Given the description of an element on the screen output the (x, y) to click on. 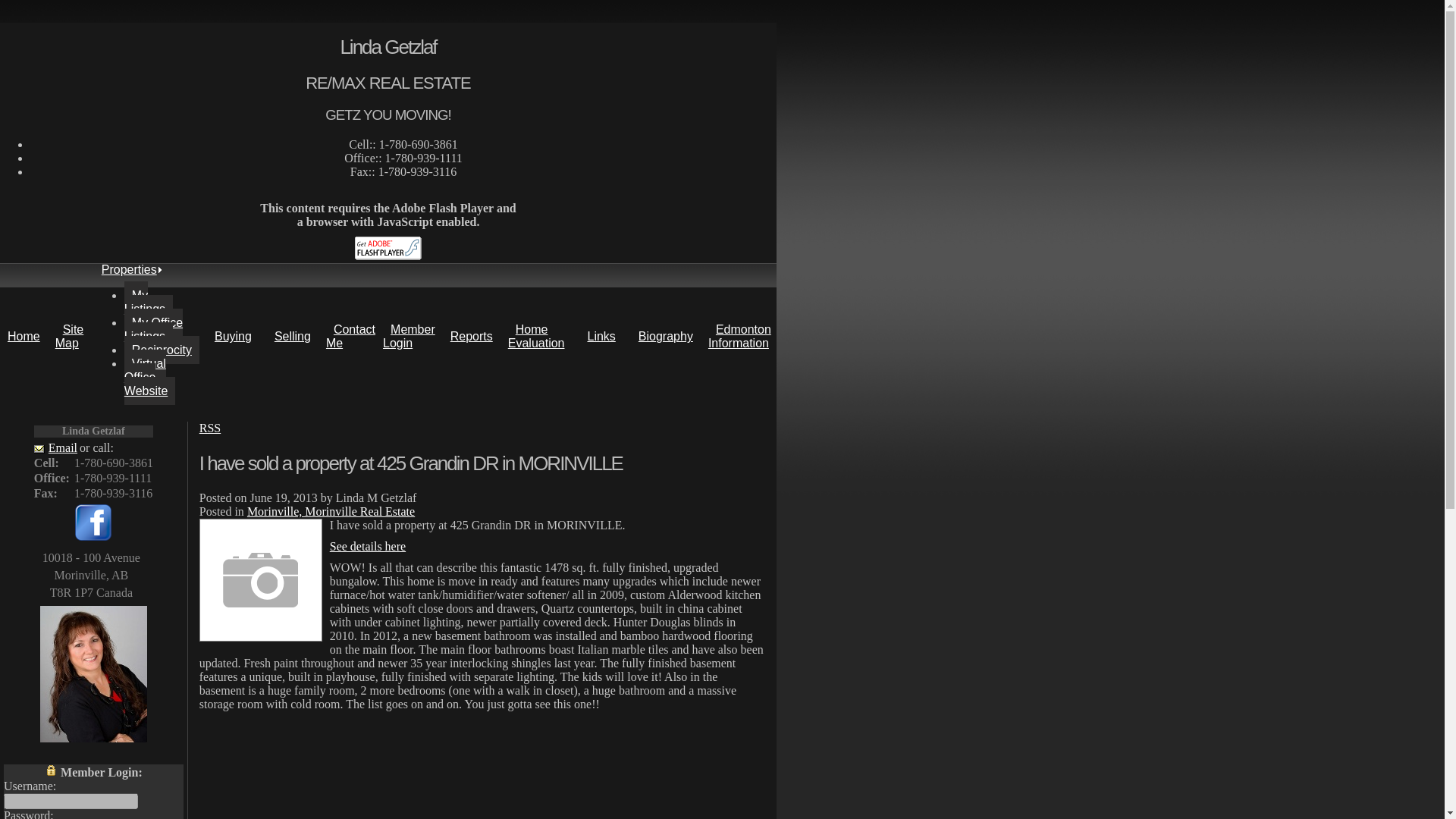
Links (601, 336)
Properties (129, 269)
Morinville, Morinville Real Estate (330, 511)
My Listings (148, 301)
Get Flash Player (388, 248)
Selling (292, 336)
Reciprocity (161, 349)
Properties (129, 269)
Virtual Office Website (149, 376)
My Listings (148, 301)
Selling (292, 336)
Edmonton Information (741, 336)
Home Evaluation (540, 336)
Biography (665, 336)
Home Evaluation (540, 336)
